Given the description of an element on the screen output the (x, y) to click on. 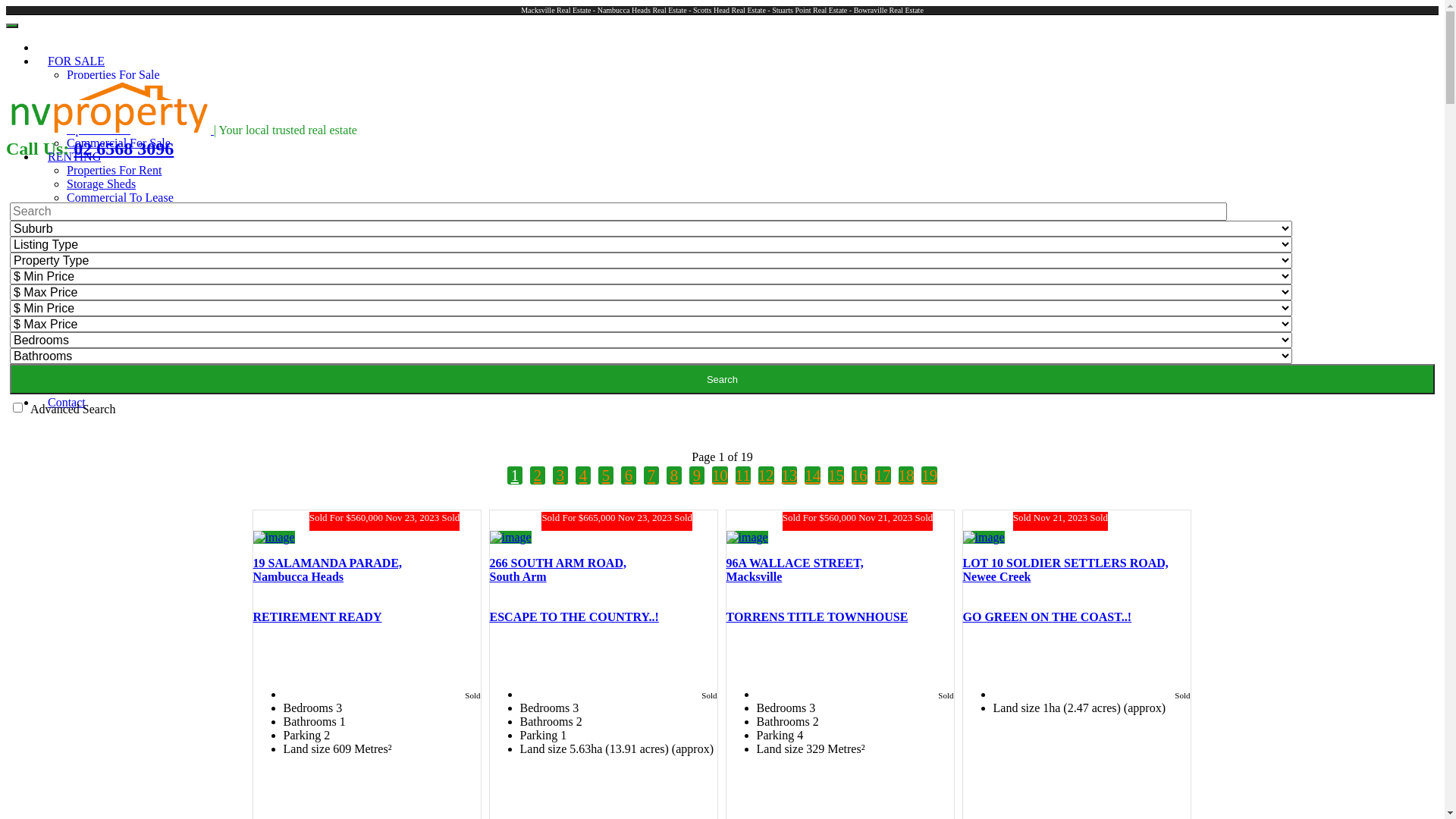
Commercial For Sale Element type: text (118, 142)
About Element type: text (62, 361)
13 Element type: text (789, 475)
Sold For $560,000 Nov 21, 2023 Sold Element type: text (839, 526)
Storage Sheds Element type: text (100, 183)
Commercial To Lease Element type: text (119, 197)
8 Element type: text (673, 475)
266 SOUTH ARM ROAD,
South Arm Element type: text (557, 569)
on Element type: text (17, 407)
2 Element type: text (537, 475)
Search Element type: text (721, 379)
Sold Properties Element type: text (103, 101)
Why us? Element type: text (87, 292)
7 Element type: text (650, 475)
Tenancy Application Form Element type: text (131, 210)
19 SALAMANDA PARADE,
Nambucca Heads Element type: text (327, 569)
Open Homes Element type: text (98, 128)
Our Company Element type: text (100, 374)
96A WALLACE STREET,
Macksville Element type: text (794, 569)
Properties For Sale Element type: text (113, 74)
Commercial Sales Element type: text (110, 251)
RETIREMENT READY Element type: text (317, 616)
Free Market Appraisal Element type: text (120, 306)
RENTING Element type: text (74, 156)
19 Element type: text (929, 475)
18 Element type: text (905, 475)
Testimonials Element type: text (97, 333)
Properties For Rent Element type: text (113, 169)
11 Element type: text (742, 475)
3 Element type: text (559, 475)
Commercial Lease Element type: text (111, 265)
10 Element type: text (720, 475)
Hot Properties Element type: text (101, 87)
ESCAPE TO THE COUNTRY..! Element type: text (573, 616)
Sold Nov 21, 2023 Sold Element type: text (1076, 526)
14 Element type: text (812, 475)
Recently Sold Element type: text (100, 319)
Maintenance Request Form Element type: text (133, 224)
17 Element type: text (883, 475)
Sold Properties Element type: text (84, 347)
15 Element type: text (836, 475)
FOR SALE Element type: text (76, 60)
Tell Me First Element type: text (97, 115)
Our Staff Element type: text (89, 388)
Sold For $665,000 Nov 23, 2023 Sold Element type: text (603, 526)
SELLING Element type: text (72, 279)
5 Element type: text (605, 475)
02 6568 3096 Element type: text (123, 148)
6 Element type: text (628, 475)
Contact Element type: text (66, 402)
TORRENS TITLE TOWNHOUSE Element type: text (817, 616)
16 Element type: text (859, 475)
Sold For $560,000 Nov 23, 2023 Sold Element type: text (366, 526)
9 Element type: text (696, 475)
4 Element type: text (582, 475)
GO GREEN ON THE COAST..! Element type: text (1047, 616)
12 Element type: text (766, 475)
LOT 10 SOLDIER SETTLERS ROAD,
Newee Creek Element type: text (1065, 569)
COMMERCIAL Element type: text (88, 238)
1 Element type: text (514, 475)
